Given the description of an element on the screen output the (x, y) to click on. 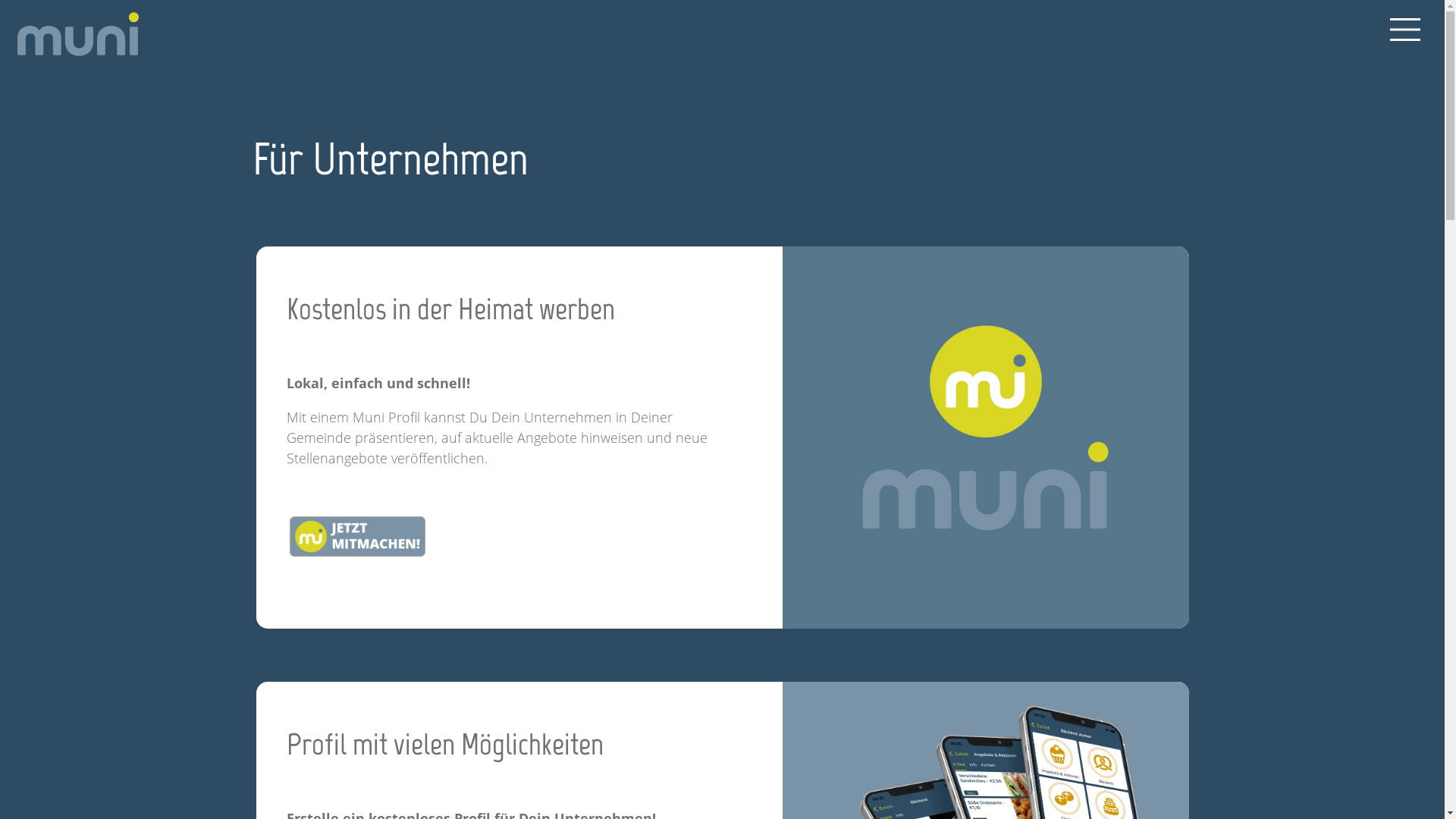
muni Element type: text (77, 34)
